Given the description of an element on the screen output the (x, y) to click on. 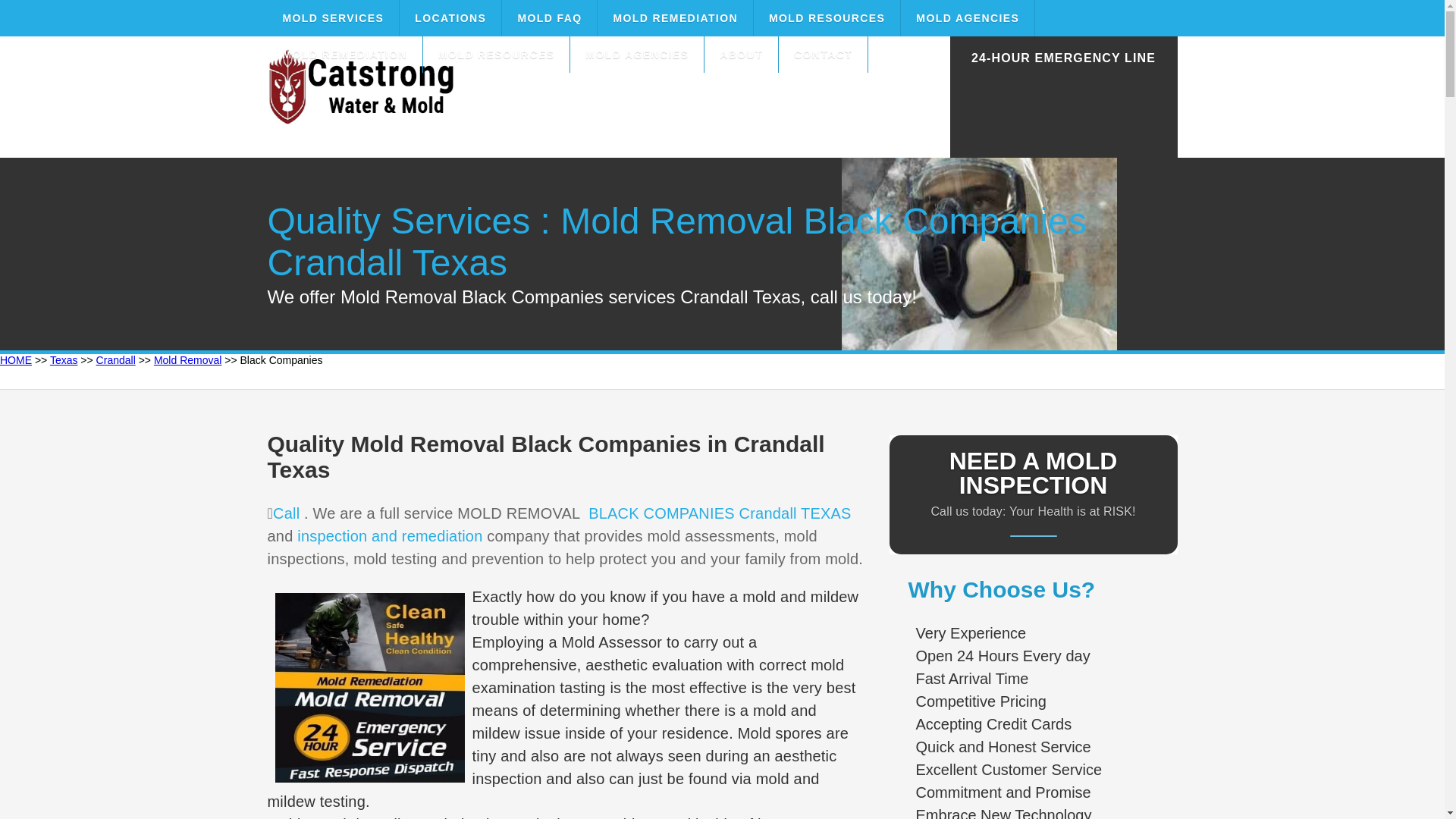
MOLD SERVICES (332, 18)
MOLD FAQ (549, 18)
MOLD REMEDIATION (674, 18)
LOCATIONS (450, 18)
